Given the description of an element on the screen output the (x, y) to click on. 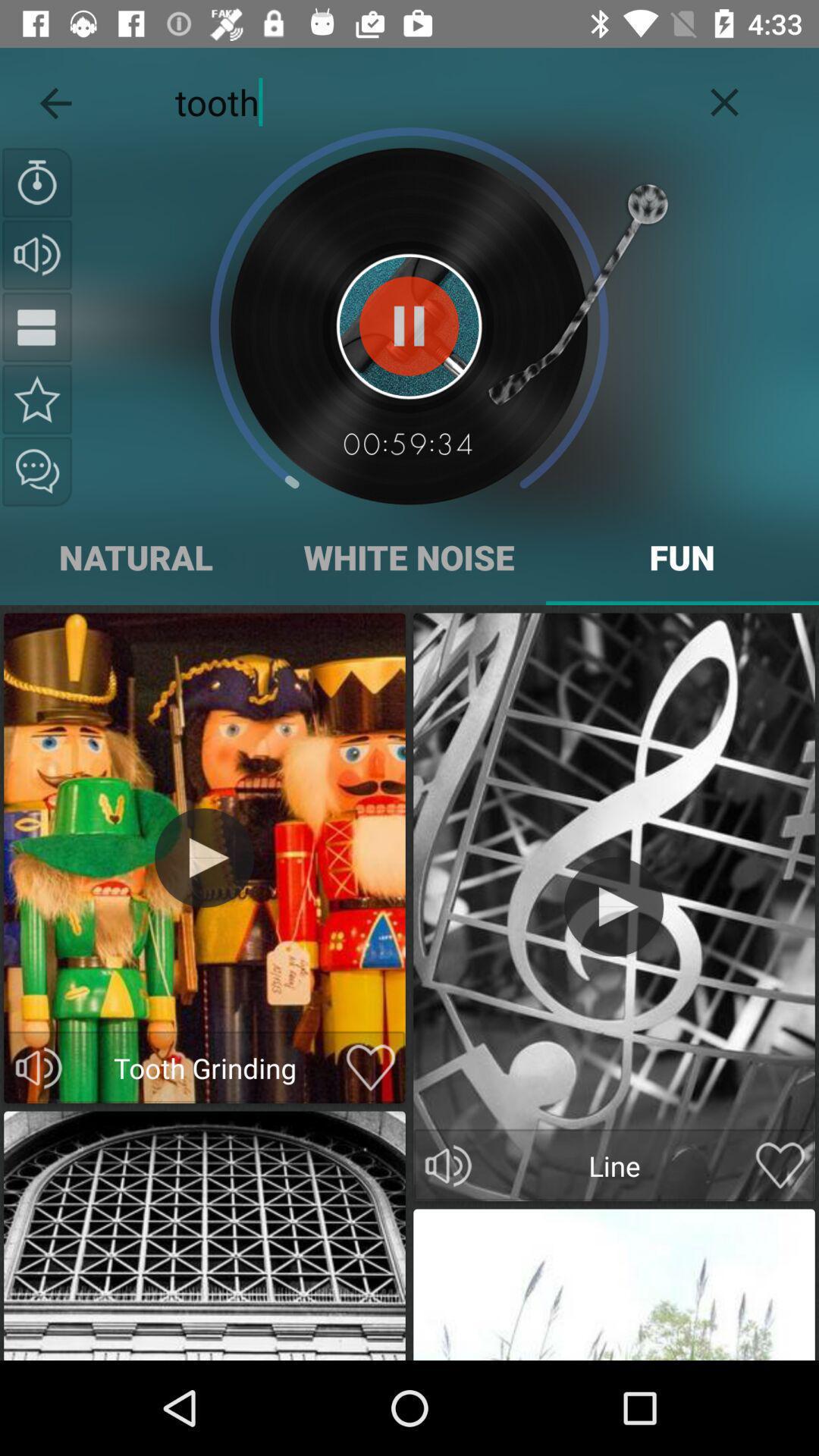
favorite video (370, 1067)
